Given the description of an element on the screen output the (x, y) to click on. 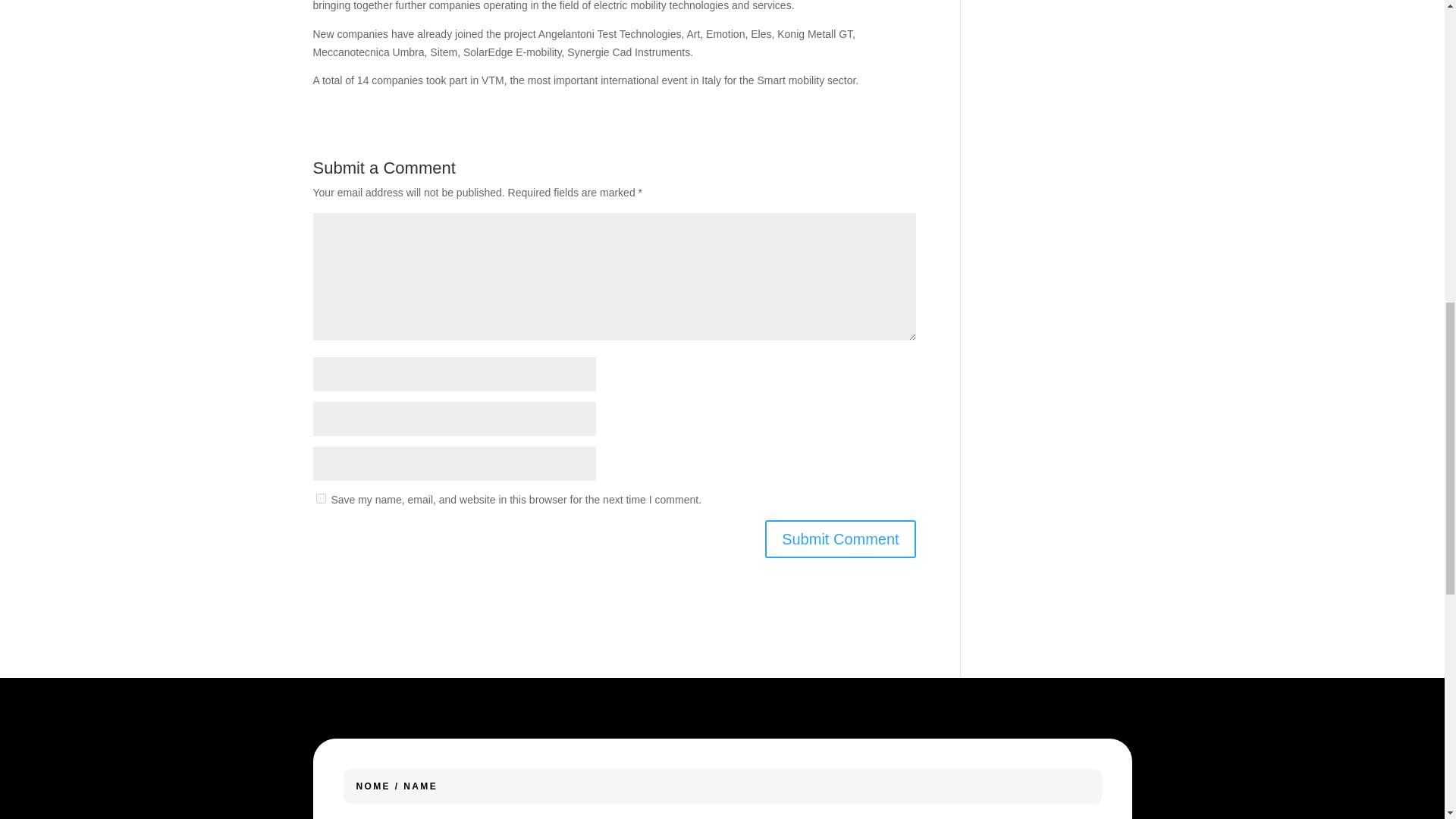
Submit Comment (840, 538)
yes (319, 498)
Submit Comment (840, 538)
